Given the description of an element on the screen output the (x, y) to click on. 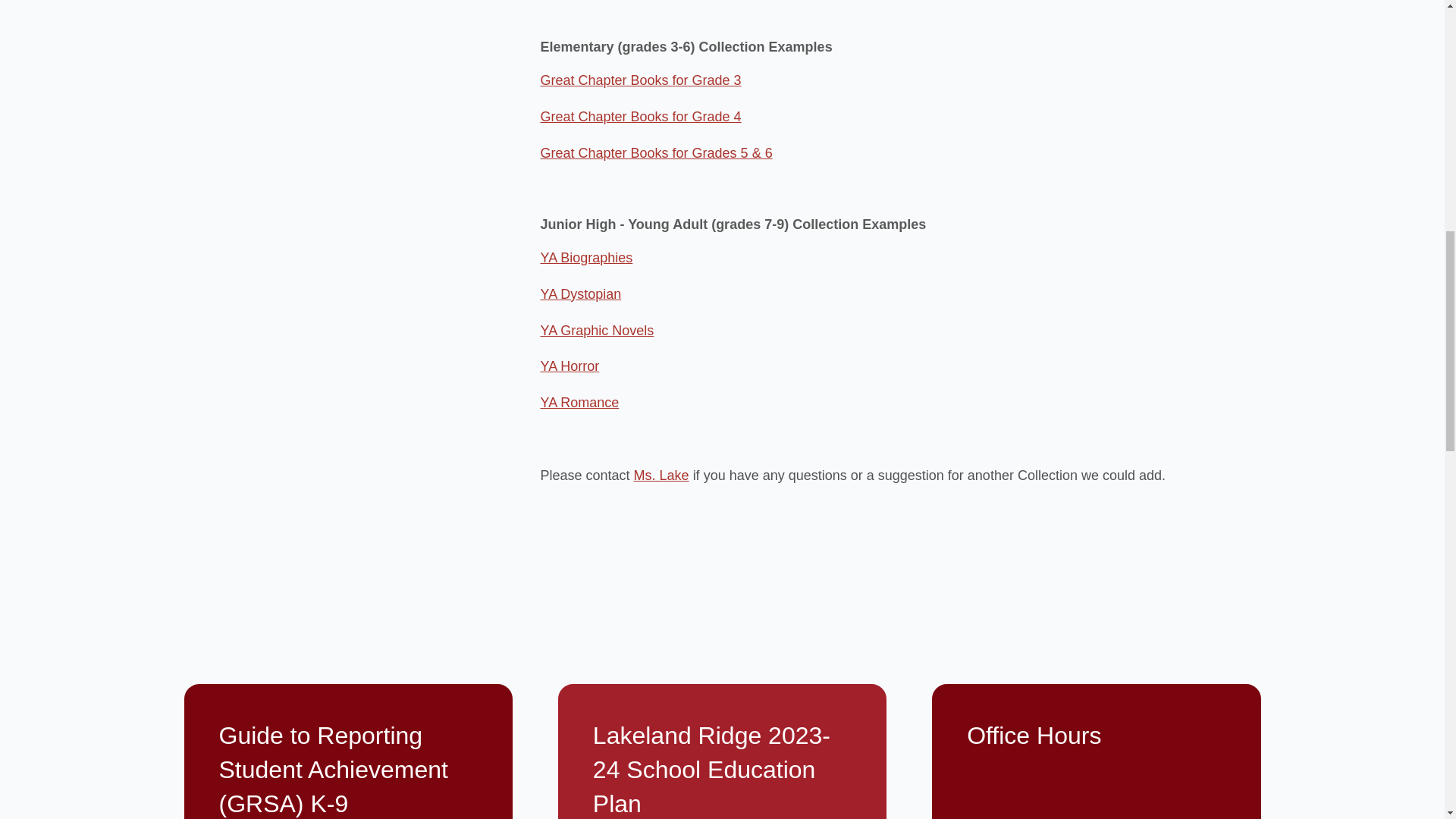
Office Hours (1095, 751)
Lakeland Ridge 2023-24 School Education Plan (721, 751)
